Given the description of an element on the screen output the (x, y) to click on. 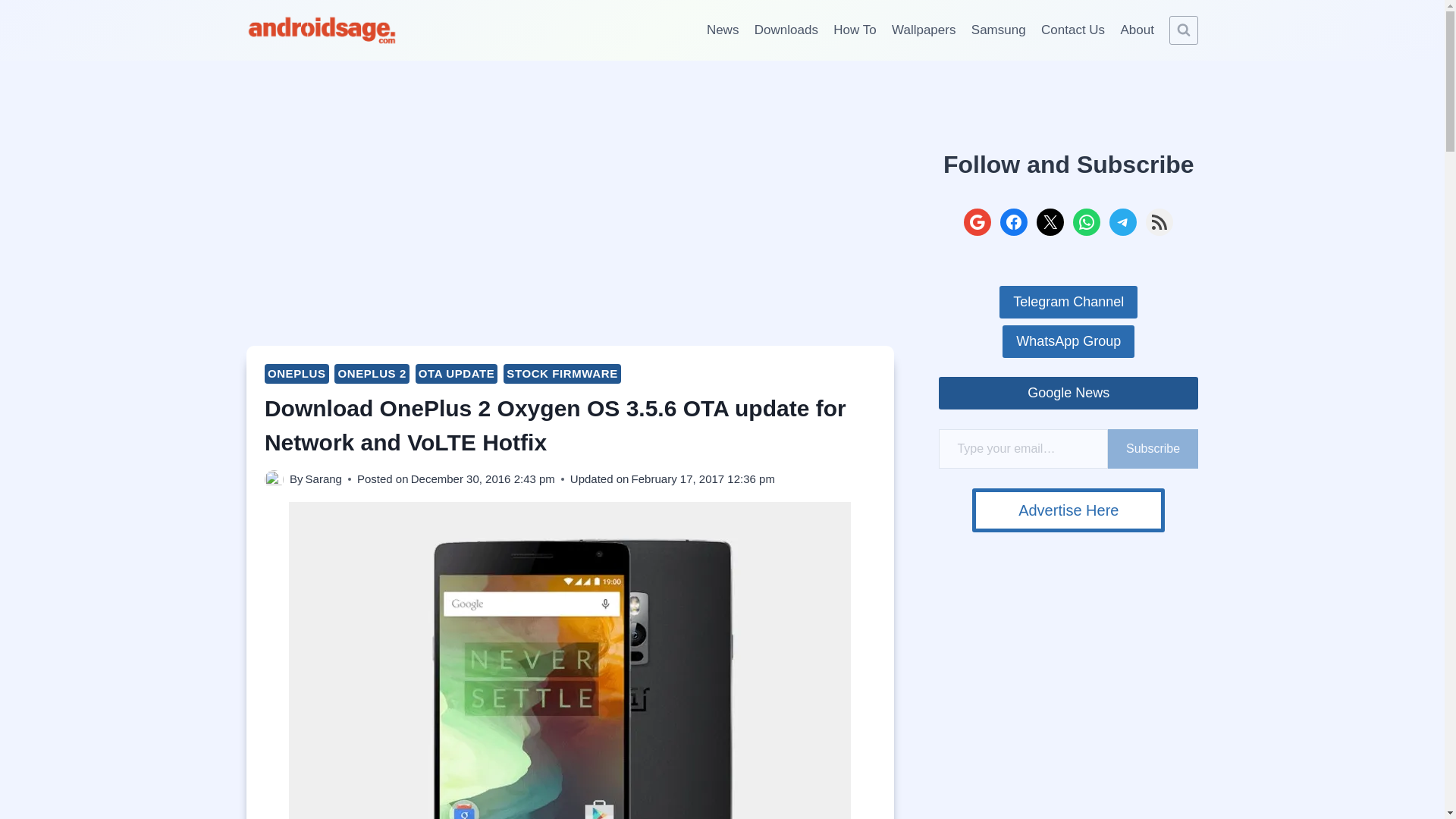
ONEPLUS 2 (371, 373)
Downloads (785, 30)
Sarang (323, 478)
ONEPLUS (296, 373)
Wallpapers (923, 30)
Contact Us (1072, 30)
About (1136, 30)
News (722, 30)
How To (854, 30)
Samsung (998, 30)
STOCK FIRMWARE (561, 373)
OTA UPDATE (455, 373)
